Given the description of an element on the screen output the (x, y) to click on. 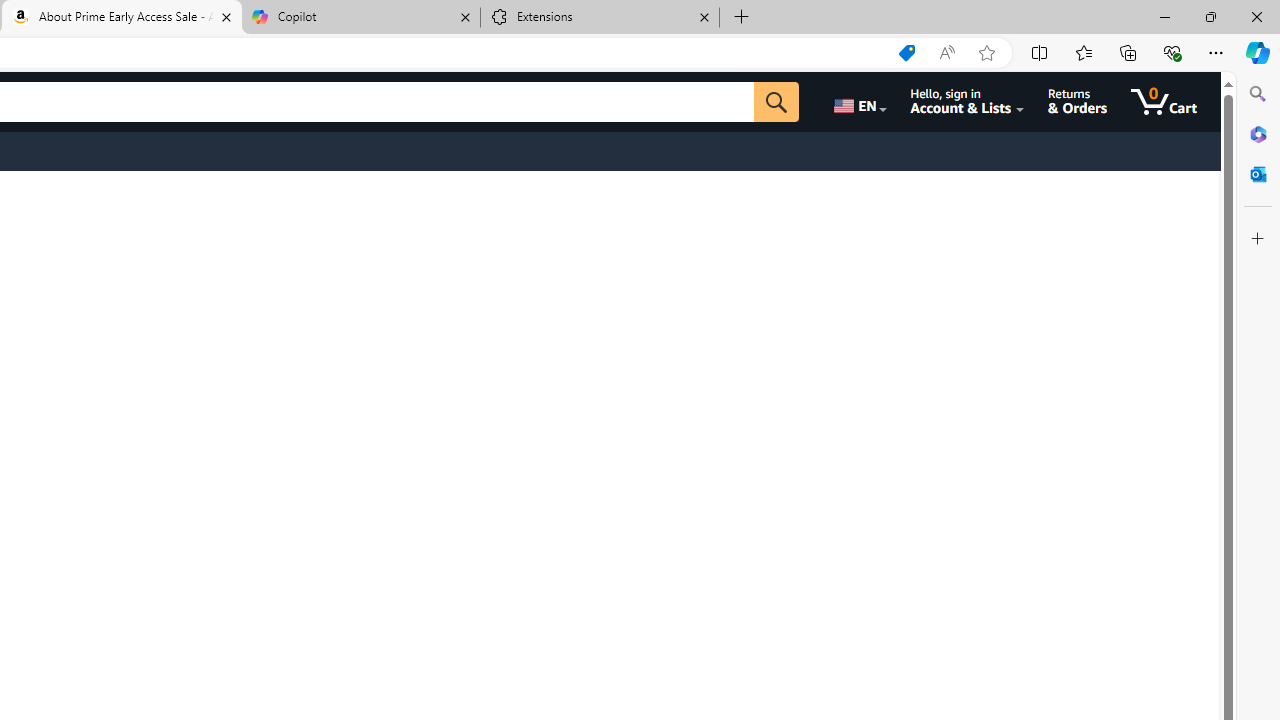
Go (776, 101)
